Given the description of an element on the screen output the (x, y) to click on. 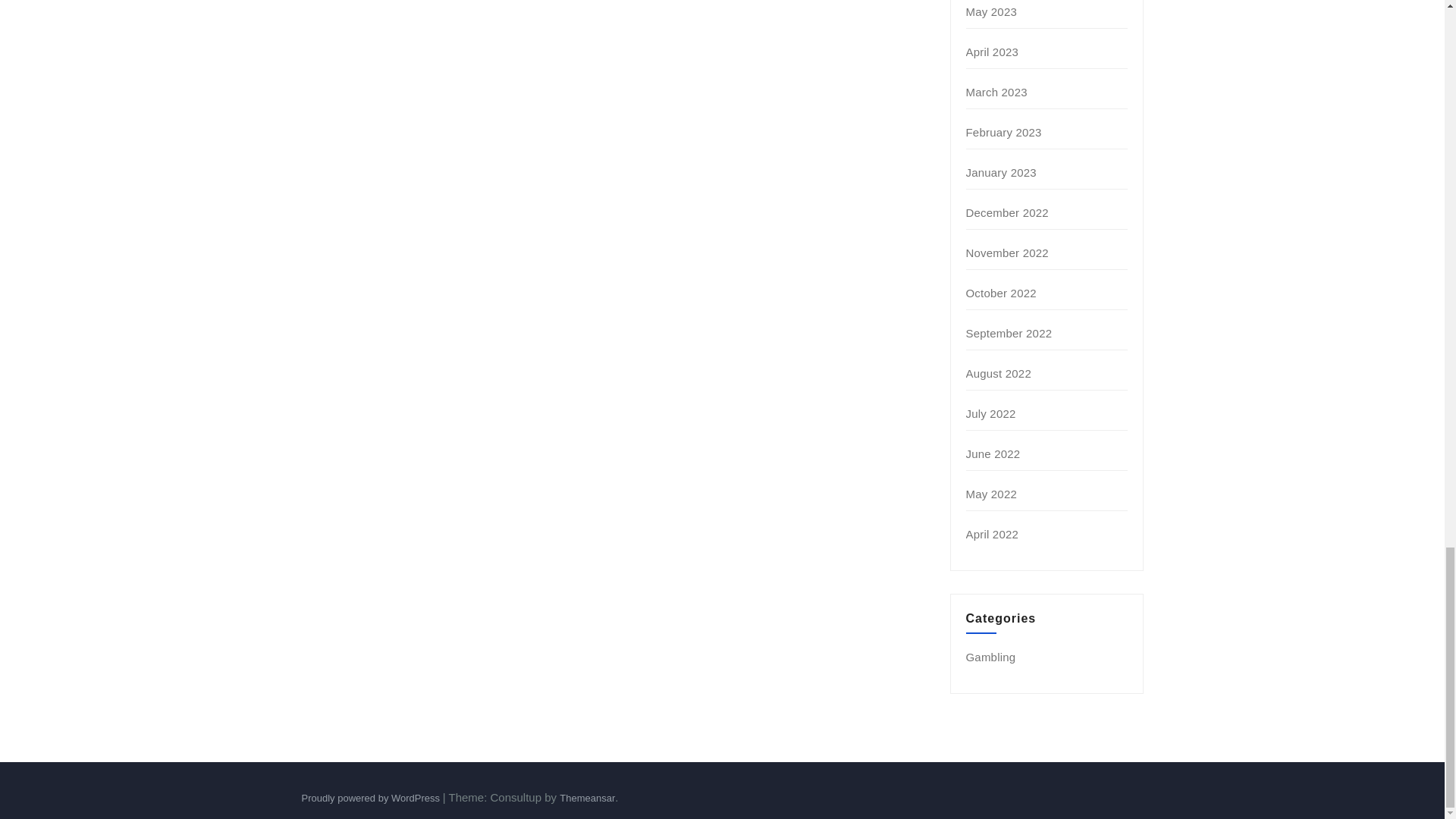
September 2022 (1009, 332)
February 2023 (1004, 132)
July 2022 (991, 413)
May 2023 (991, 11)
August 2022 (998, 373)
April 2023 (992, 51)
December 2022 (1007, 212)
March 2023 (996, 91)
November 2022 (1007, 252)
October 2022 (1001, 292)
